Given the description of an element on the screen output the (x, y) to click on. 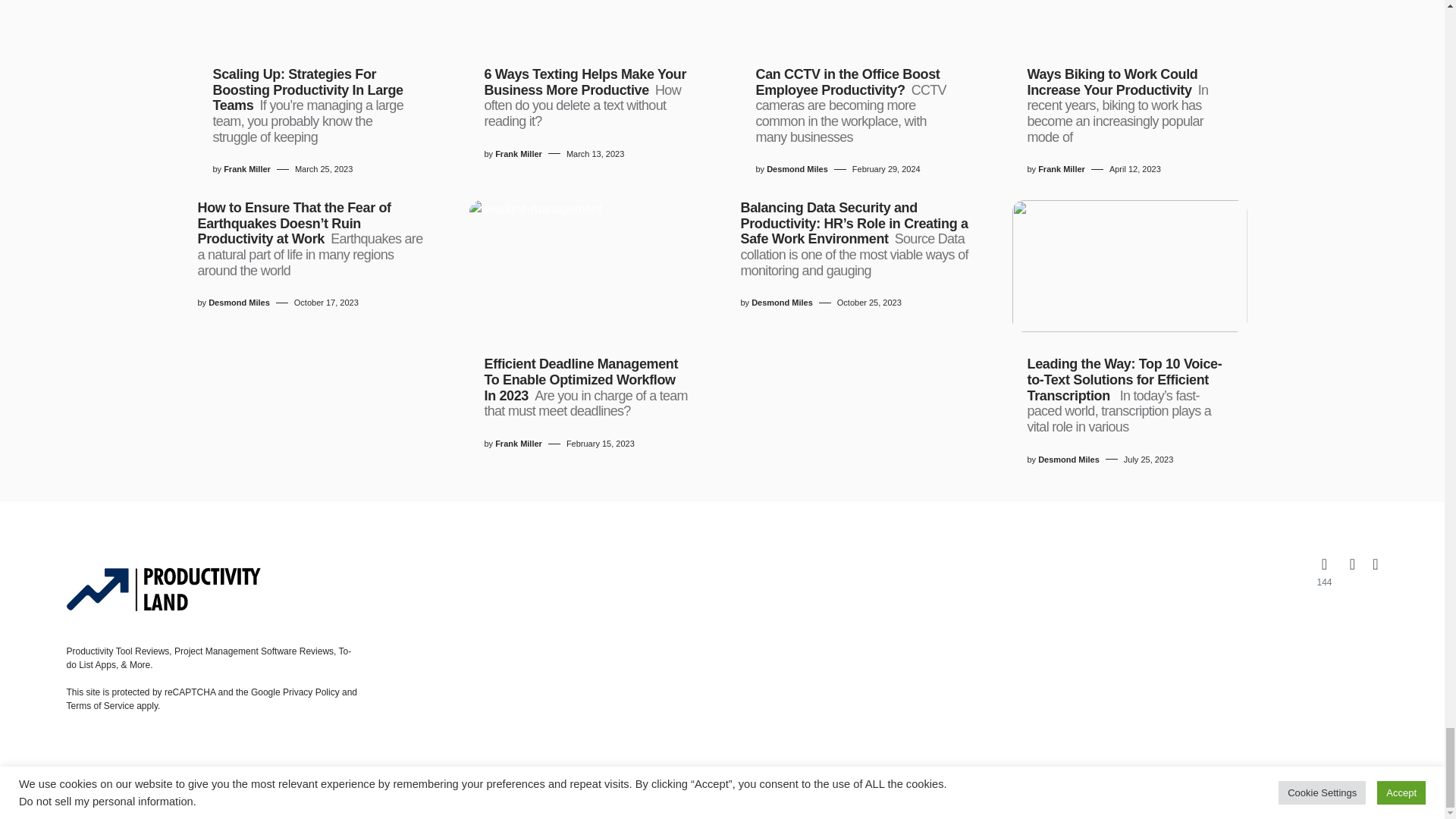
View all posts by Desmond Miles (797, 169)
View all posts by Frank Miller (1061, 169)
View all posts by Frank Miller (247, 169)
View all posts by Frank Miller (518, 154)
View all posts by Frank Miller (518, 443)
View all posts by Desmond Miles (1068, 459)
View all posts by Desmond Miles (781, 302)
View all posts by Desmond Miles (238, 302)
